Given the description of an element on the screen output the (x, y) to click on. 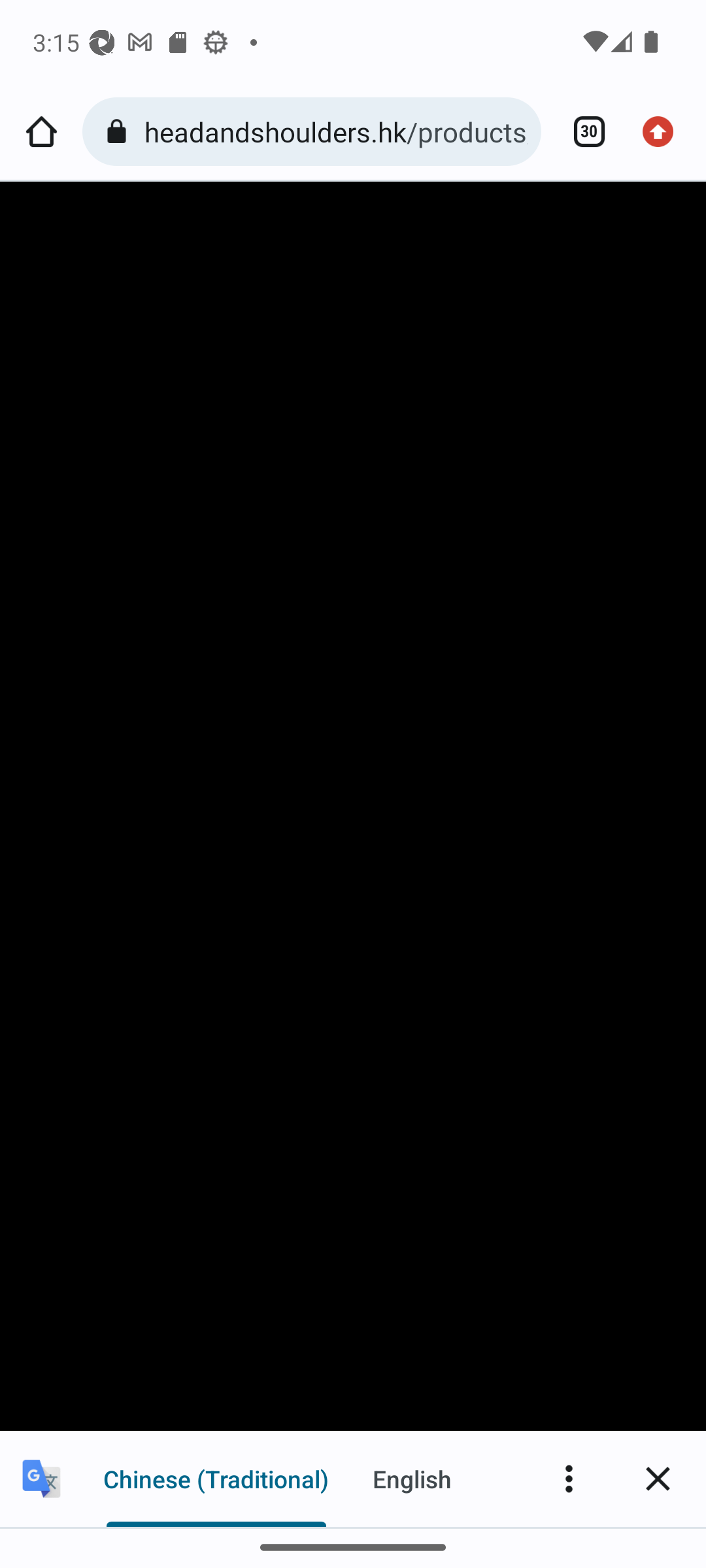
Home (41, 131)
Connection is secure (120, 131)
Switch or close tabs (582, 131)
Update available. More options (664, 131)
English (411, 1478)
More options (568, 1478)
Close (657, 1478)
